Given the description of an element on the screen output the (x, y) to click on. 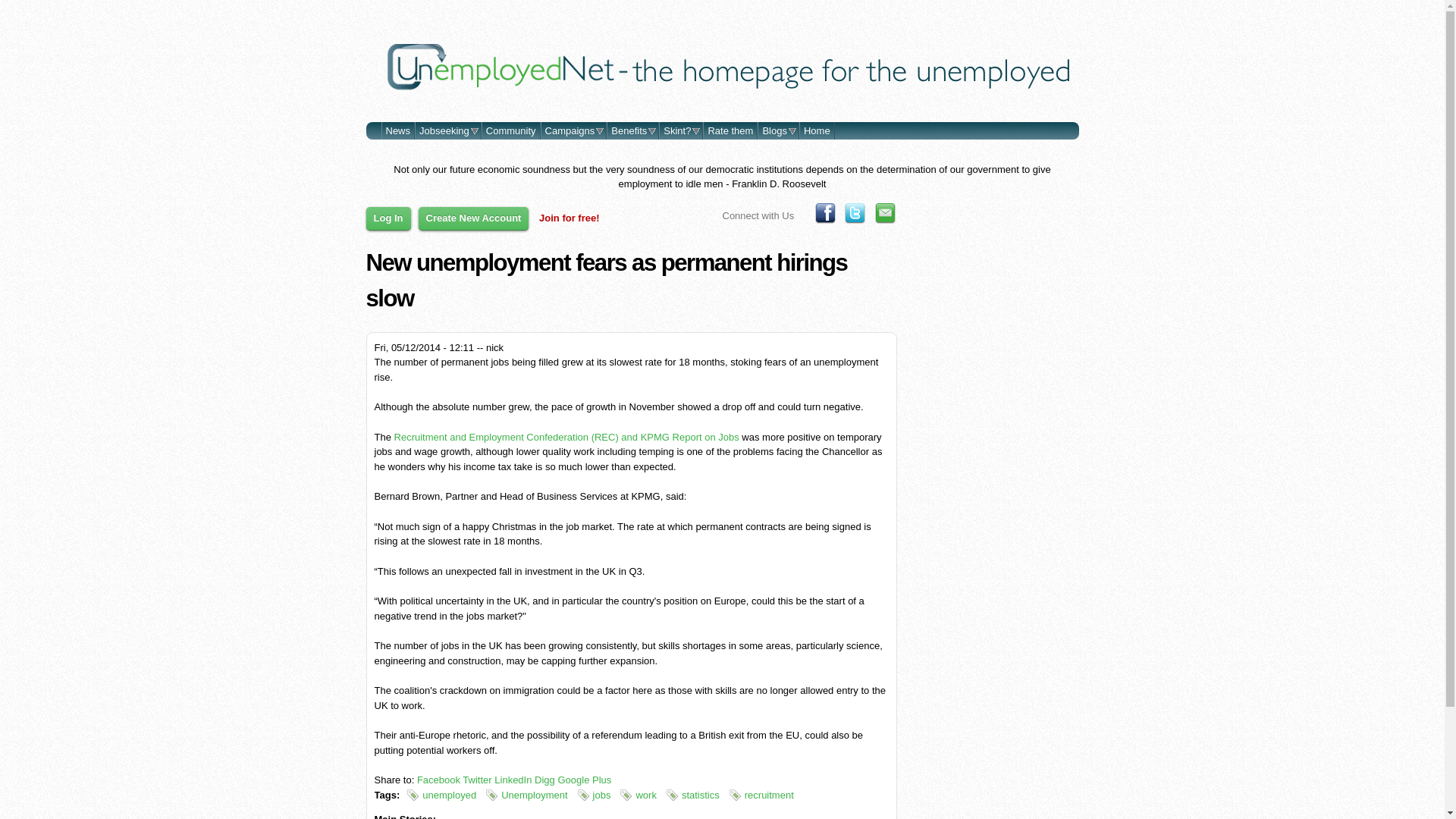
Blogs (777, 130)
Community (510, 130)
News (397, 130)
Rate them (730, 130)
Benefits (632, 130)
Campaigns (574, 130)
Skip to main content (693, 1)
Jobseeking (447, 130)
Skint? (680, 130)
